Given the description of an element on the screen output the (x, y) to click on. 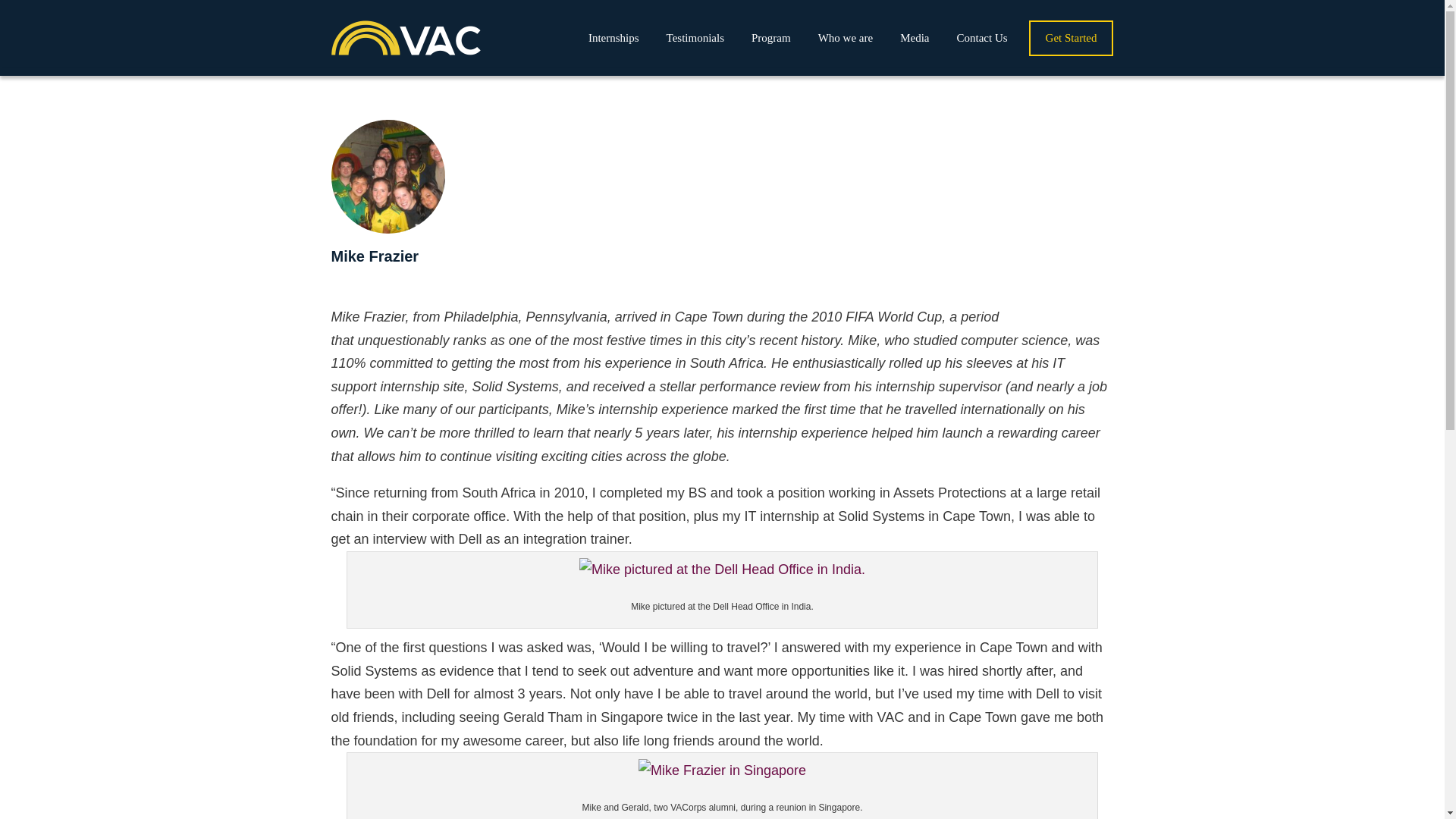
Program (770, 38)
Internships (613, 38)
Testimonials (695, 38)
Who we are (845, 38)
